Given the description of an element on the screen output the (x, y) to click on. 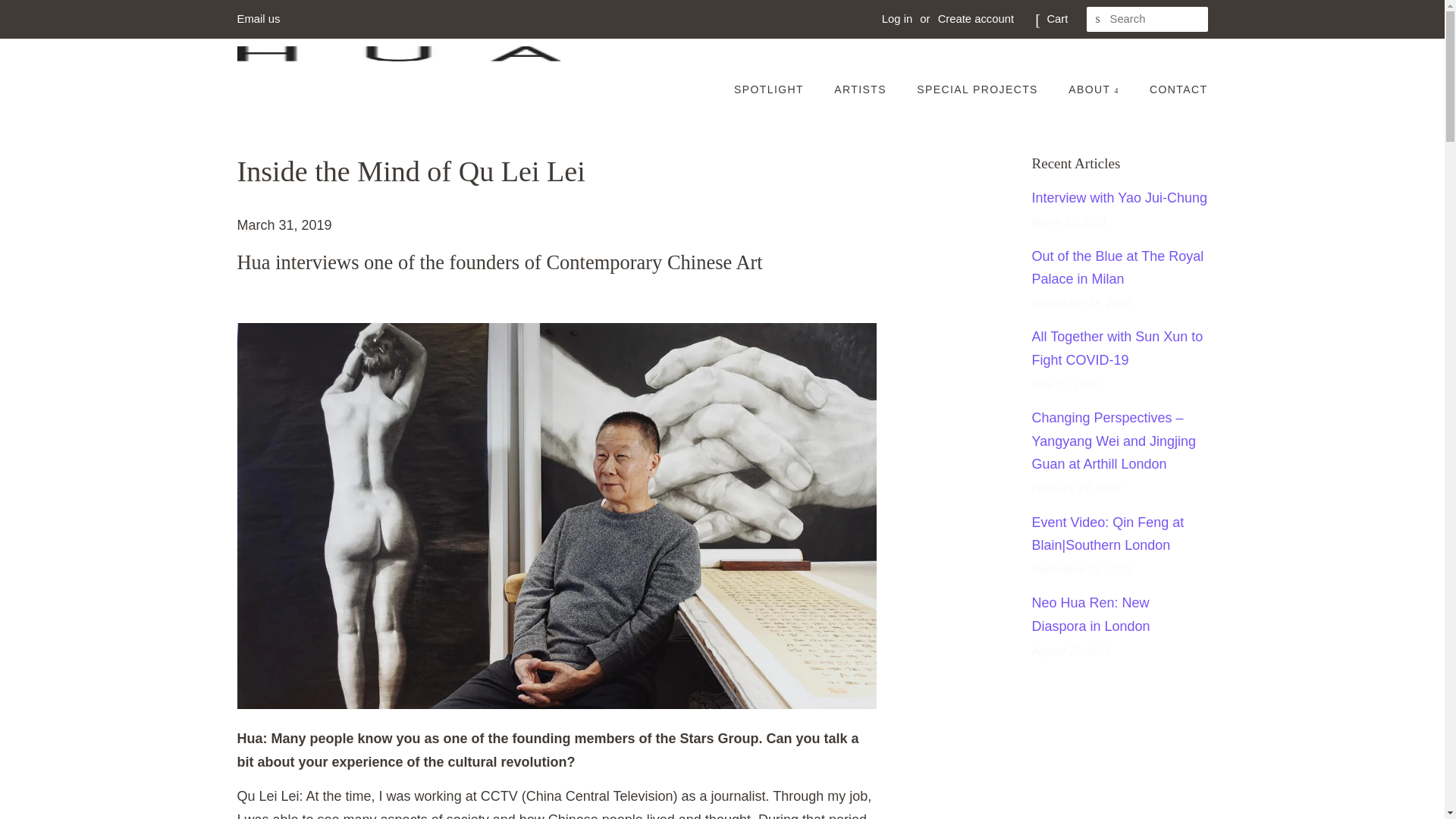
Cart (1056, 18)
ABOUT (1095, 90)
Neo Hua Ren: New Diaspora in London (1090, 614)
Out of the Blue at The Royal Palace in Milan (1117, 267)
Interview with Yao Jui-Chung (1118, 197)
Create account (975, 19)
SEARCH (1097, 18)
SPECIAL PROJECTS (978, 90)
All Together with Sun Xun to Fight COVID-19 (1116, 348)
SPOTLIGHT (775, 90)
